Given the description of an element on the screen output the (x, y) to click on. 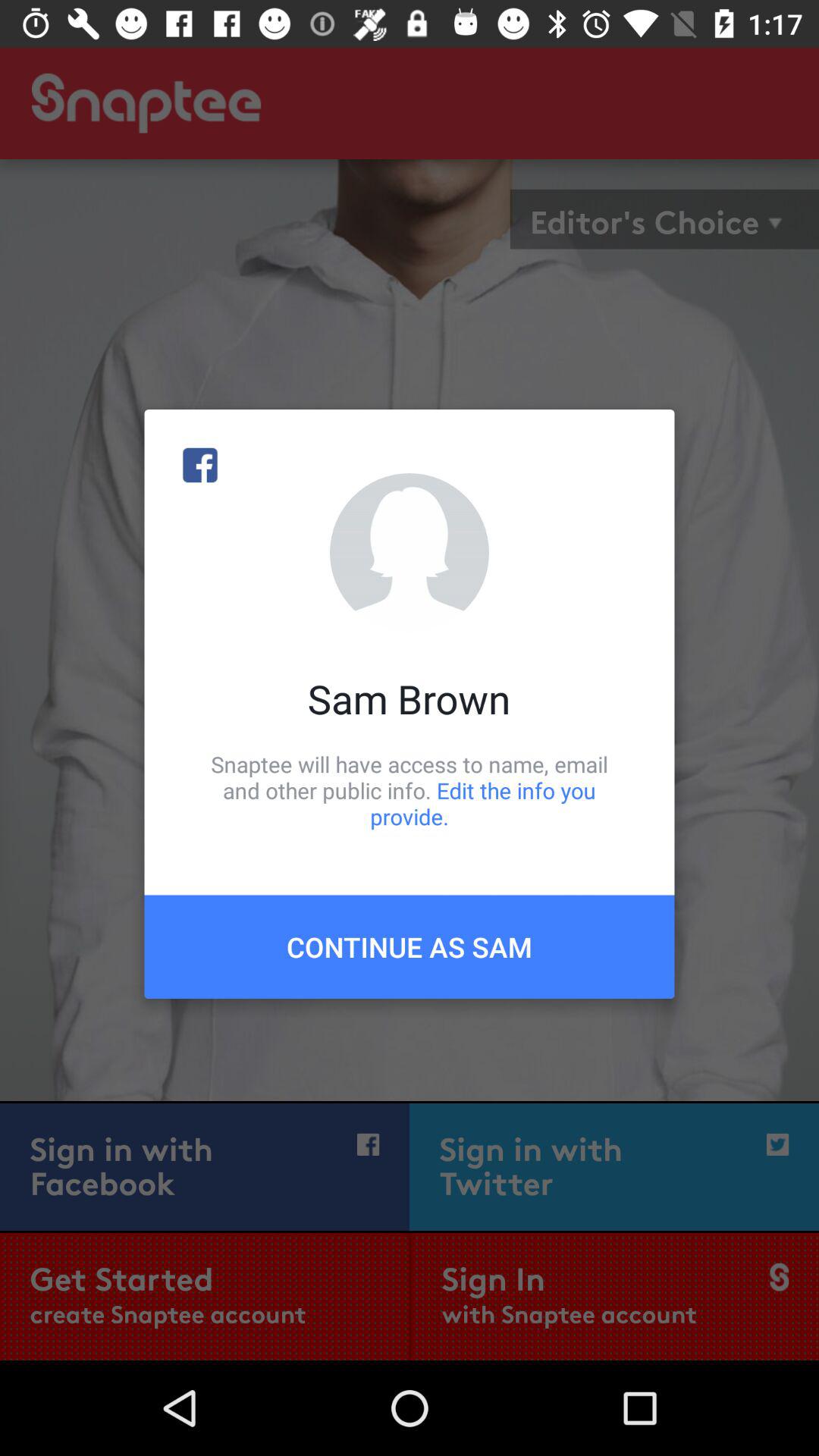
click icon below the snaptee will have item (409, 946)
